Given the description of an element on the screen output the (x, y) to click on. 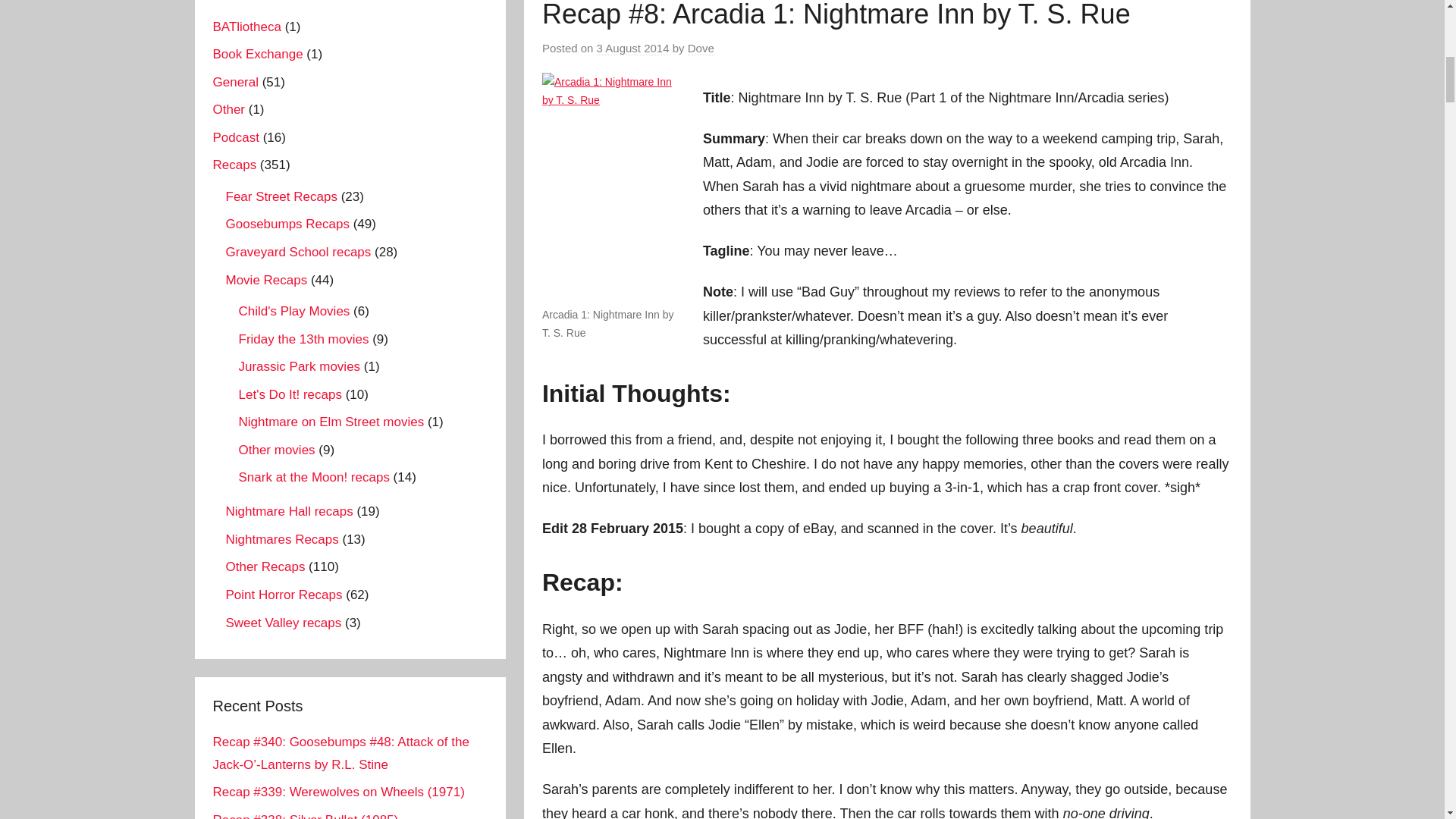
View all posts by Dove (700, 48)
3 August 2014 (632, 48)
Dove (700, 48)
